Given the description of an element on the screen output the (x, y) to click on. 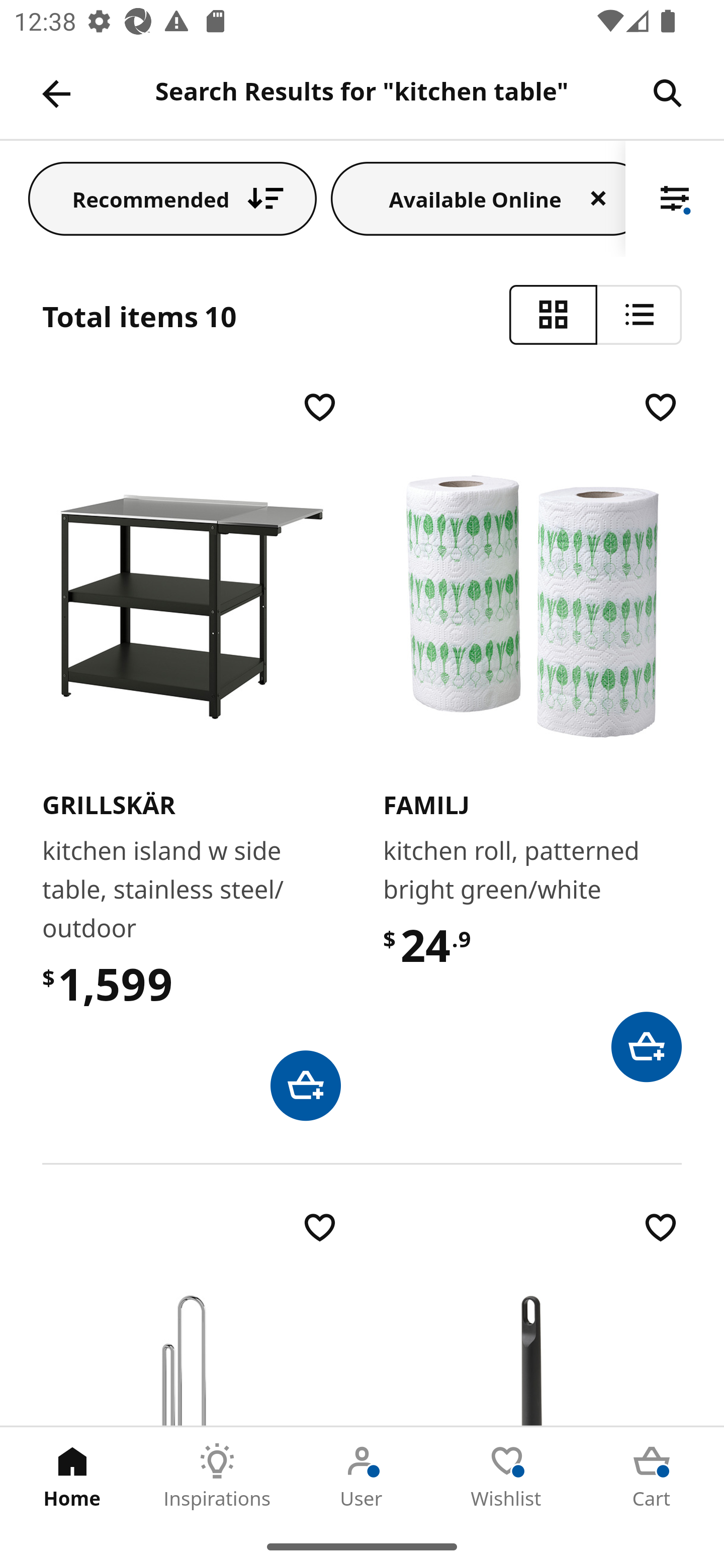
Recommended (172, 198)
Available Online (477, 198)
Home
Tab 1 of 5 (72, 1476)
Inspirations
Tab 2 of 5 (216, 1476)
User
Tab 3 of 5 (361, 1476)
Wishlist
Tab 4 of 5 (506, 1476)
Cart
Tab 5 of 5 (651, 1476)
